Given the description of an element on the screen output the (x, y) to click on. 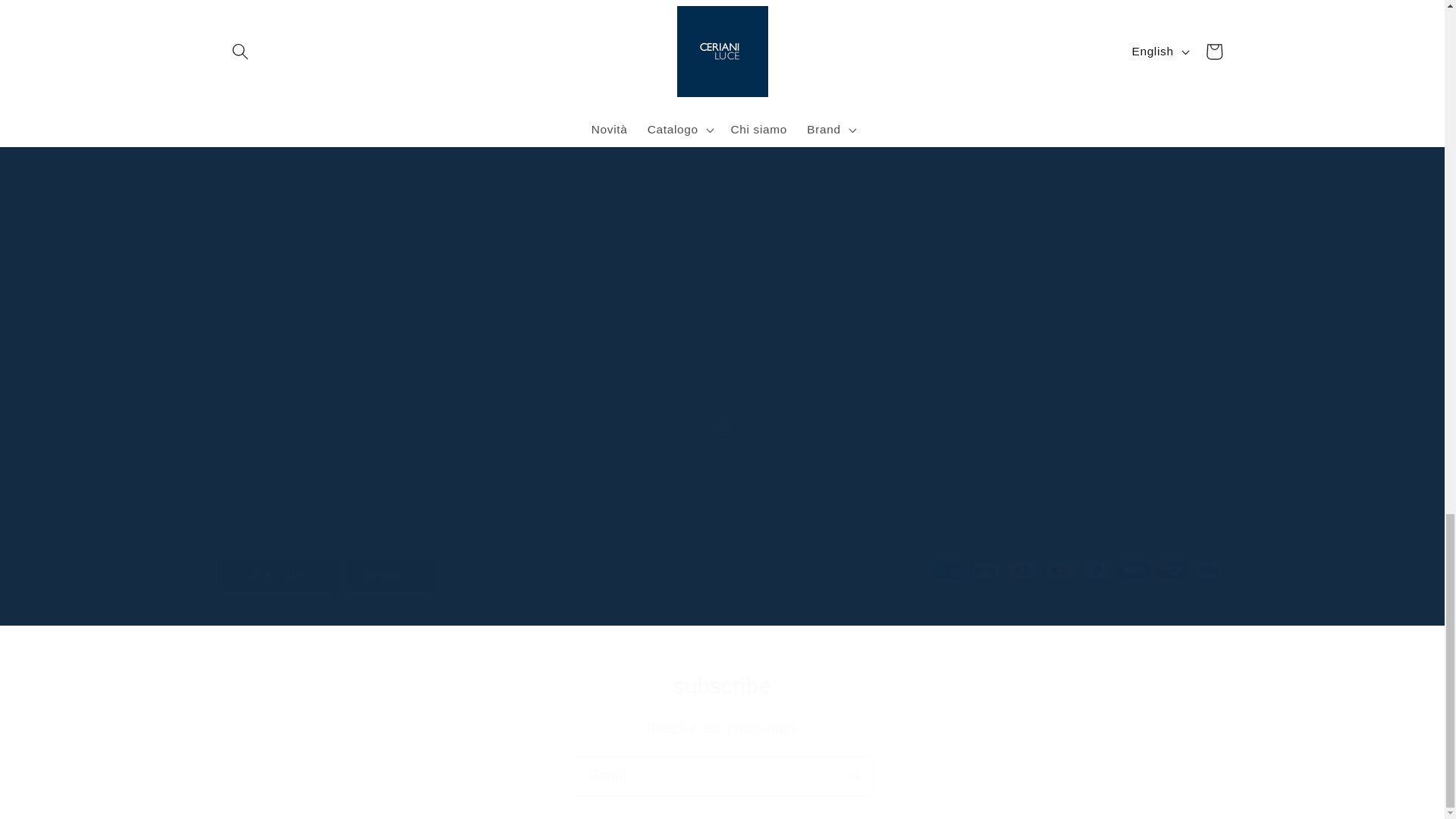
Email (722, 776)
Receive our promotions (722, 728)
subscribe (722, 686)
Instagram (722, 428)
